Given the description of an element on the screen output the (x, y) to click on. 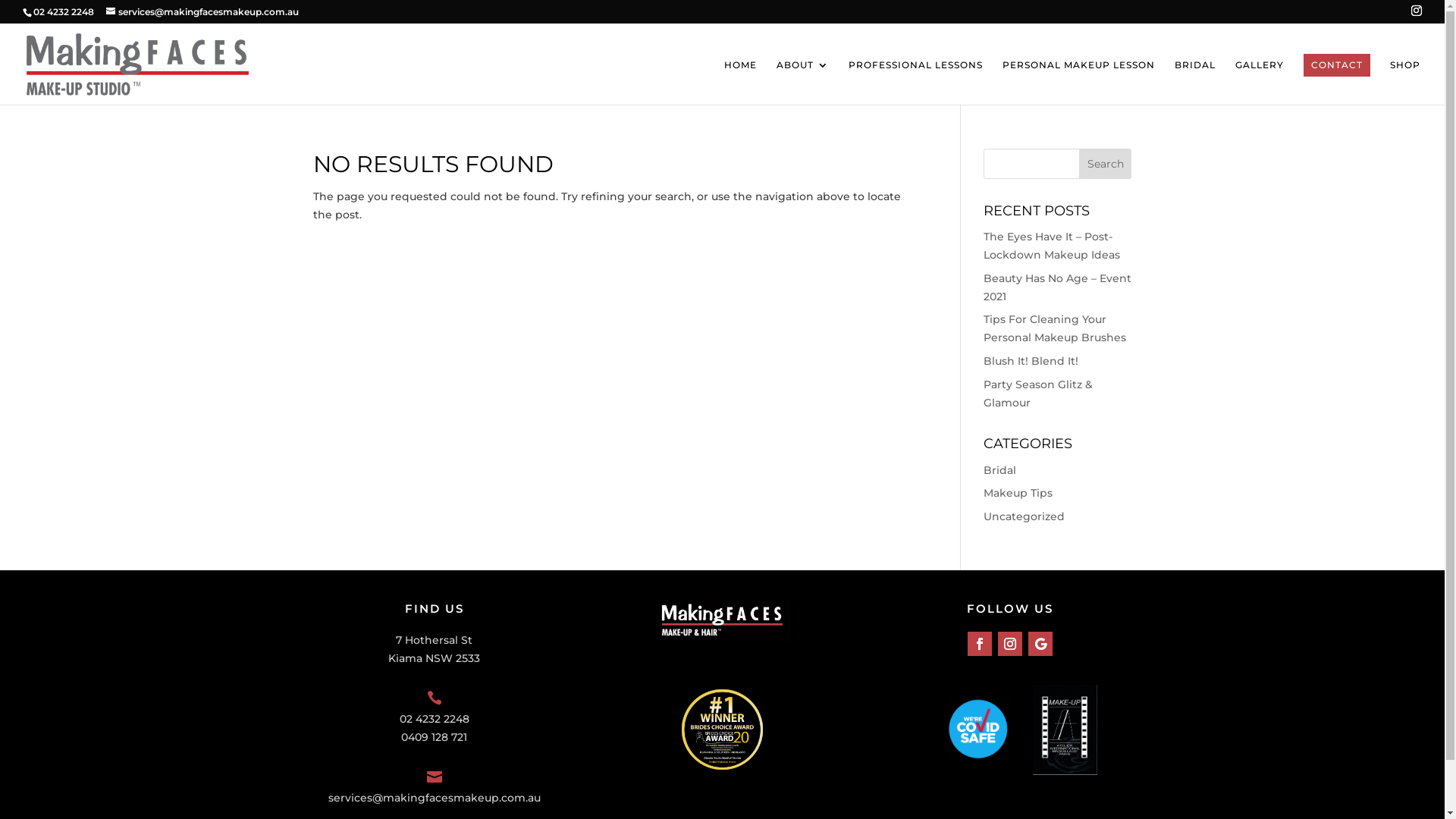
Making-Faces-MakeUp-Studio-ISHL-roundel-1WINNER (002) Element type: hover (721, 729)
Uncategorized Element type: text (1023, 516)
PROFESSIONAL LESSONS Element type: text (915, 81)
BRIDAL Element type: text (1194, 81)
PERSONAL MAKEUP LESSON Element type: text (1078, 81)
Follow on Google Element type: hover (1040, 643)
Makeup Tips Element type: text (1017, 492)
CONTACT Element type: text (1336, 64)
Bridal Element type: text (999, 469)
Tips For Cleaning Your Personal Makeup Brushes Element type: text (1054, 328)
COVID Safe Element type: hover (977, 729)
SHOP Element type: text (1405, 81)
Follow on Facebook Element type: hover (979, 643)
Makeup & Hair Logo Oblong Element type: hover (721, 620)
Copy of Atelia offical logo jp 2010 Element type: hover (1064, 729)
Search Element type: text (1105, 163)
Party Season Glitz & Glamour Element type: text (1037, 393)
services@makingfacesmakeup.com.au Element type: text (202, 11)
ABOUT Element type: text (802, 81)
GALLERY Element type: text (1259, 81)
Blush It! Blend It! Element type: text (1030, 360)
Follow on Instagram Element type: hover (1009, 643)
HOME Element type: text (740, 81)
